Given the description of an element on the screen output the (x, y) to click on. 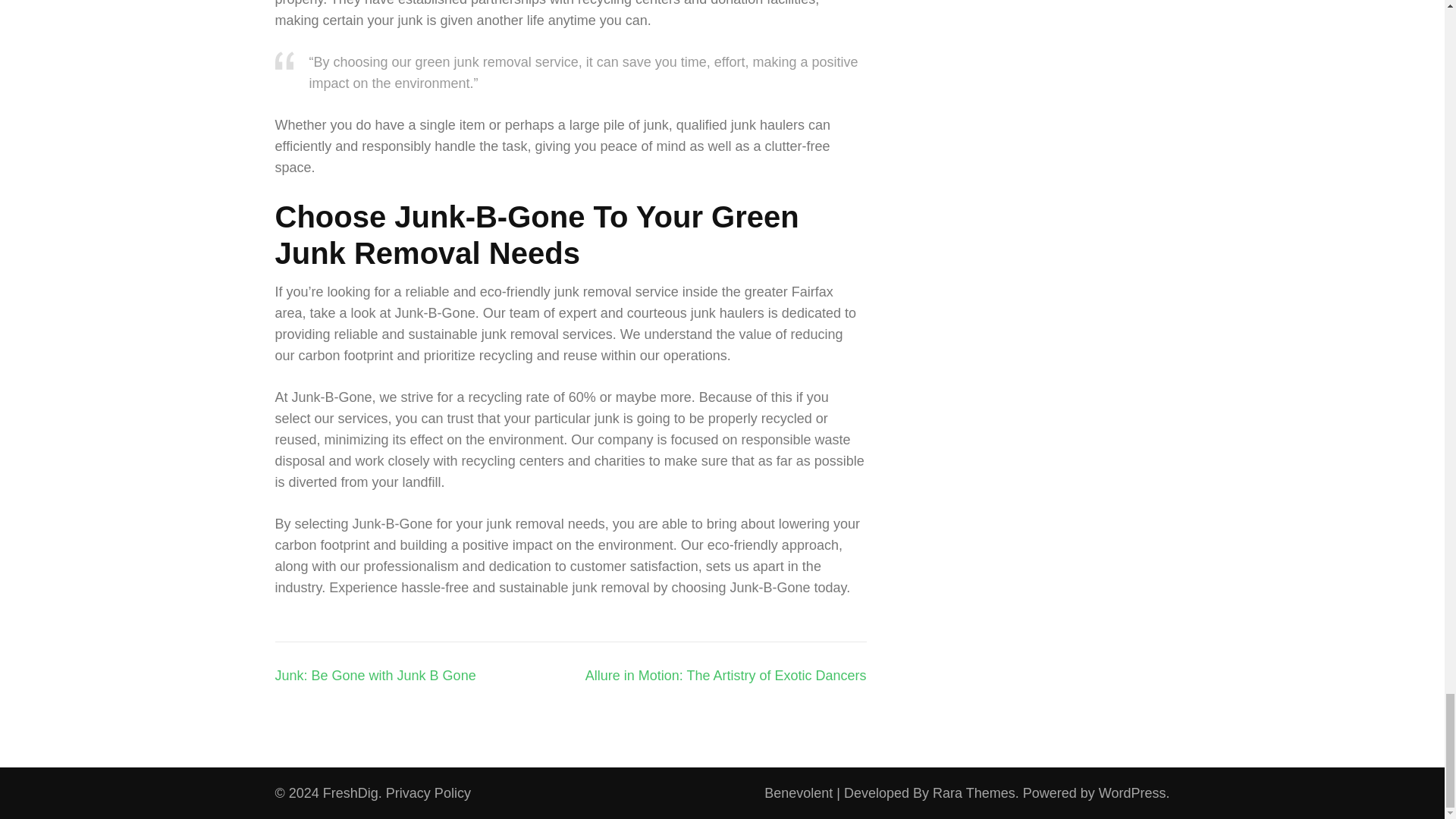
Allure in Motion: The Artistry of Exotic Dancers (725, 675)
Junk: Be Gone with Junk B Gone (375, 675)
